Given the description of an element on the screen output the (x, y) to click on. 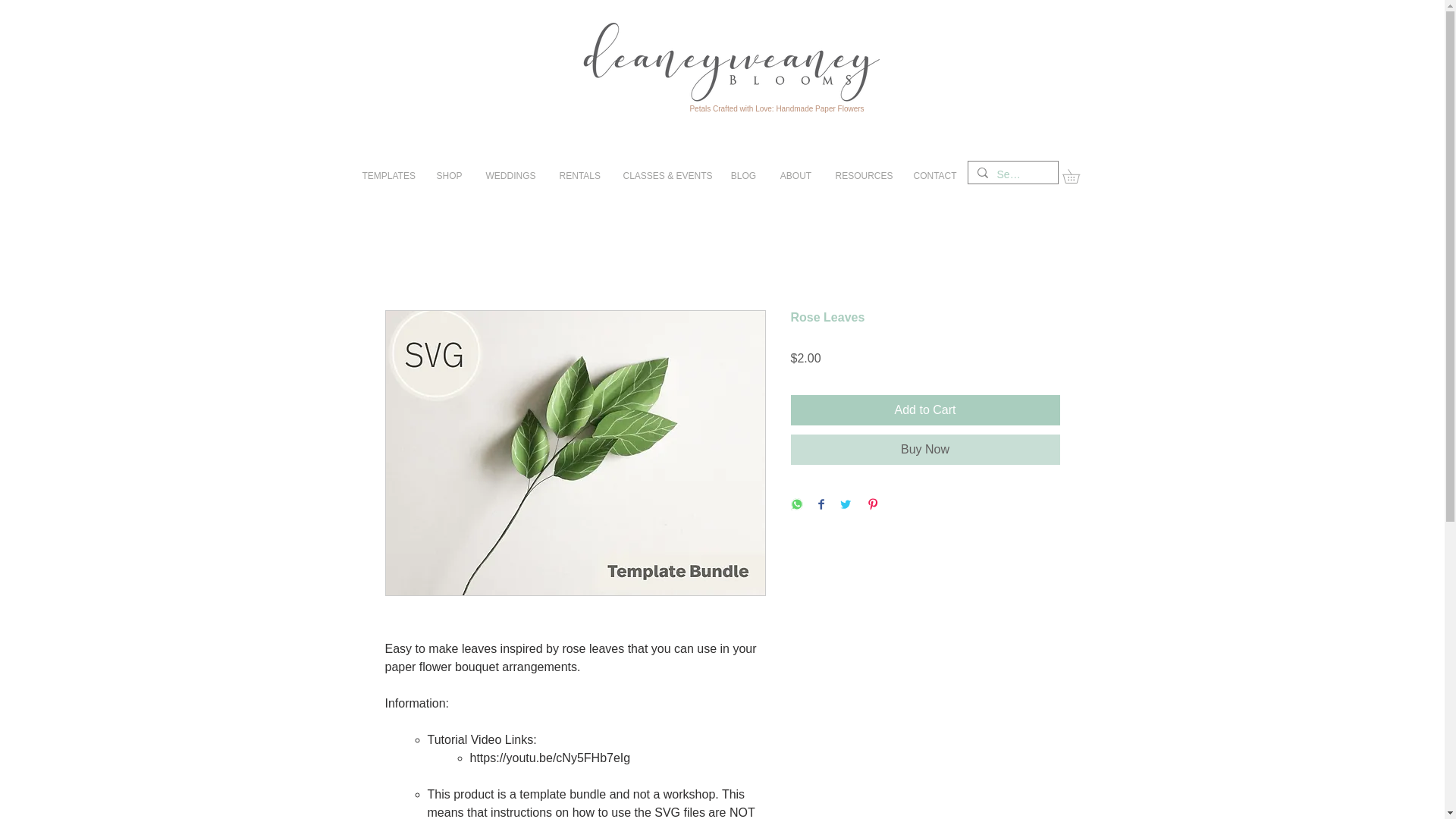
Buy Now (924, 449)
RENTALS (579, 176)
WEDDINGS (510, 176)
BLOG (743, 176)
Add to Cart (924, 409)
CONTACT (934, 176)
RESOURCES (862, 176)
TEMPLATES (386, 176)
ABOUT (794, 176)
